Given the description of an element on the screen output the (x, y) to click on. 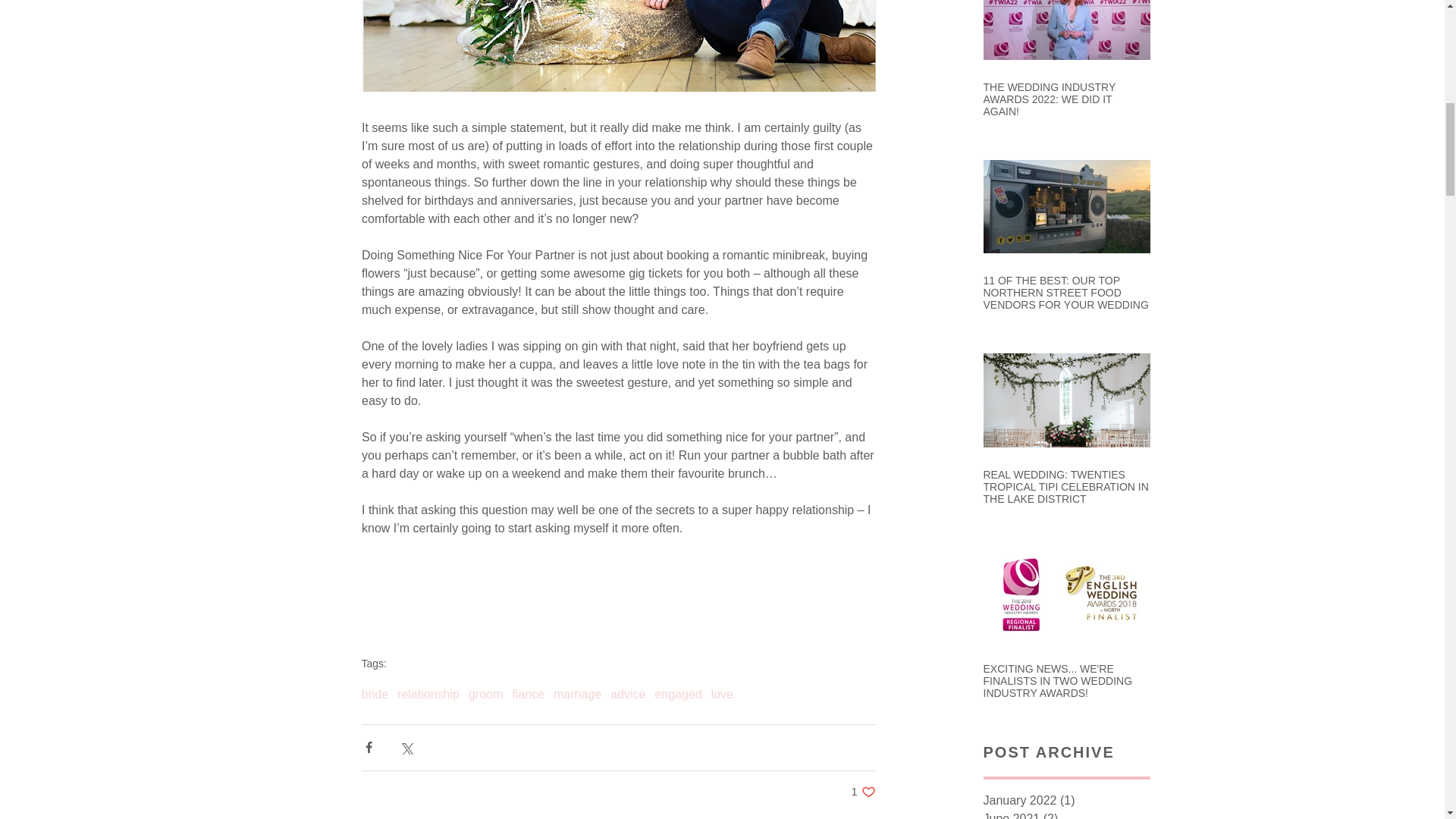
relationship (428, 694)
THE WEDDING INDUSTRY AWARDS 2022: WE DID IT AGAIN! (1066, 98)
fiance (528, 694)
groom (485, 694)
marriage (577, 694)
bride (374, 694)
